Given the description of an element on the screen output the (x, y) to click on. 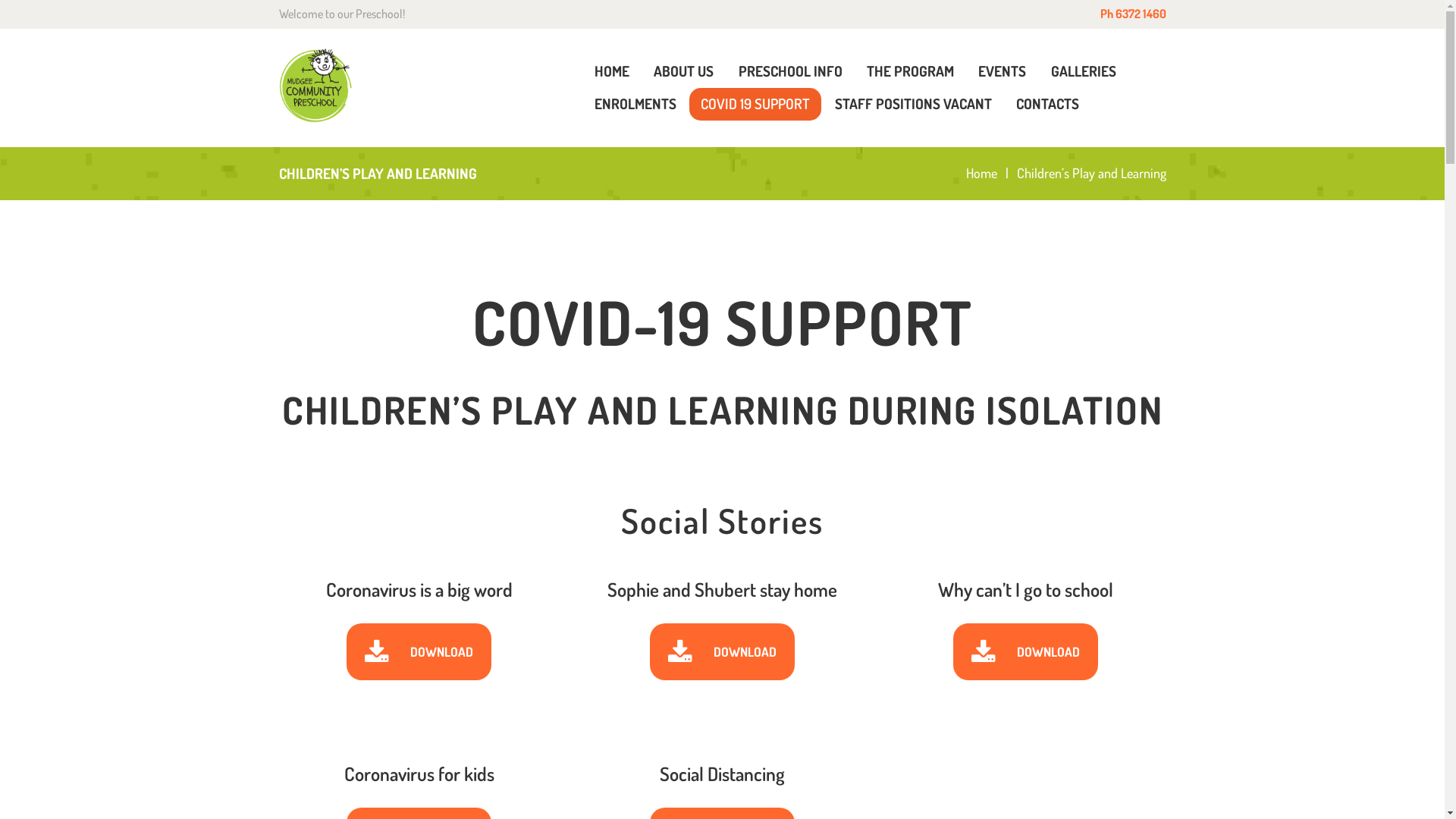
DOWNLOAD Element type: text (1025, 651)
DOWNLOAD Element type: text (721, 651)
ENROLMENTS Element type: text (634, 103)
EVENTS Element type: text (1001, 71)
Home Element type: text (981, 173)
STAFF POSITIONS VACANT Element type: text (912, 103)
GALLERIES Element type: text (1083, 71)
COVID 19 SUPPORT Element type: text (755, 103)
CONTACTS Element type: text (1047, 103)
THE PROGRAM Element type: text (910, 71)
PRESCHOOL INFO Element type: text (789, 71)
HOME Element type: text (611, 71)
ABOUT US Element type: text (683, 71)
DOWNLOAD Element type: text (418, 651)
